Given the description of an element on the screen output the (x, y) to click on. 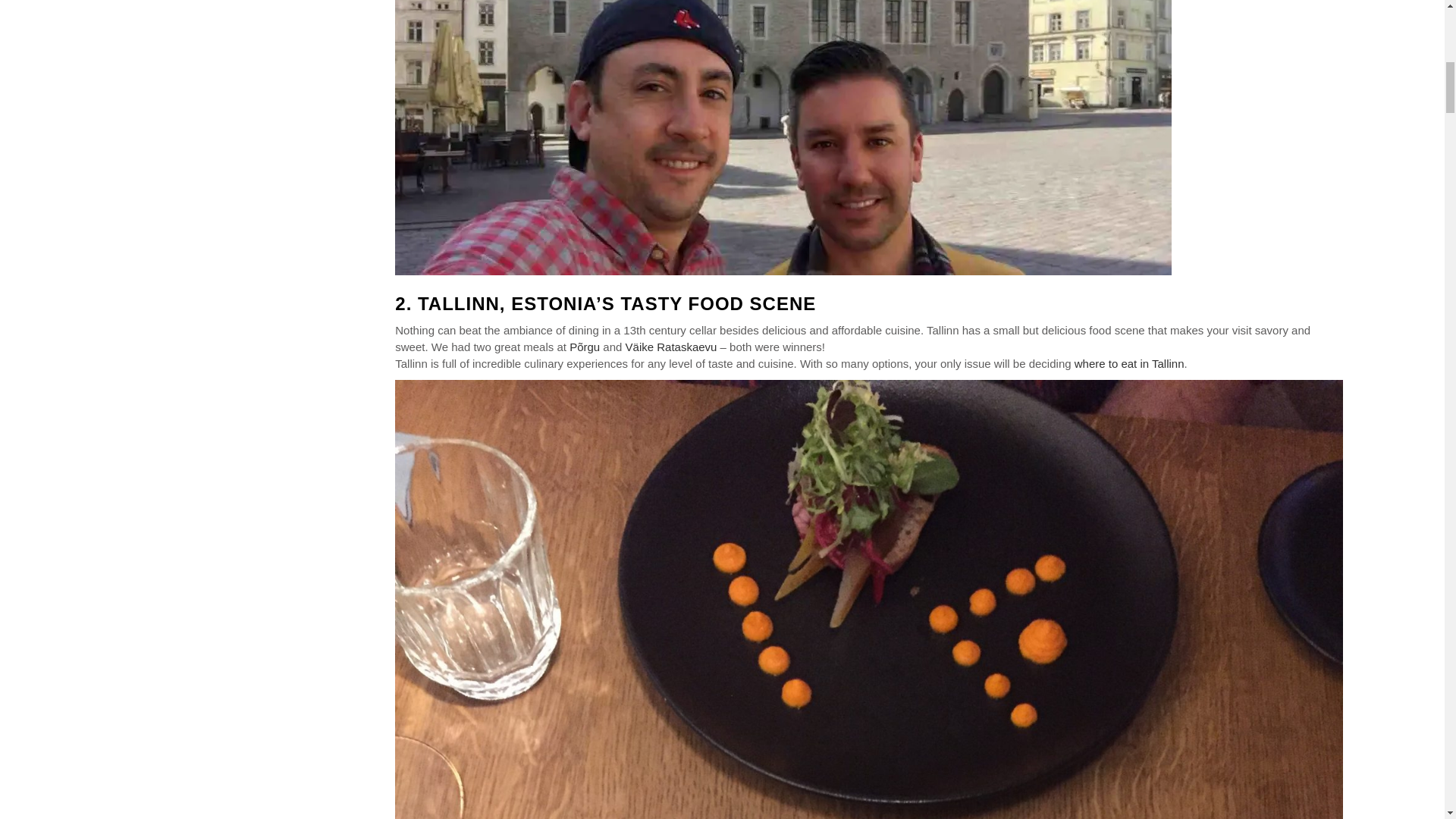
where to eat in Tallinn (1129, 363)
